Given the description of an element on the screen output the (x, y) to click on. 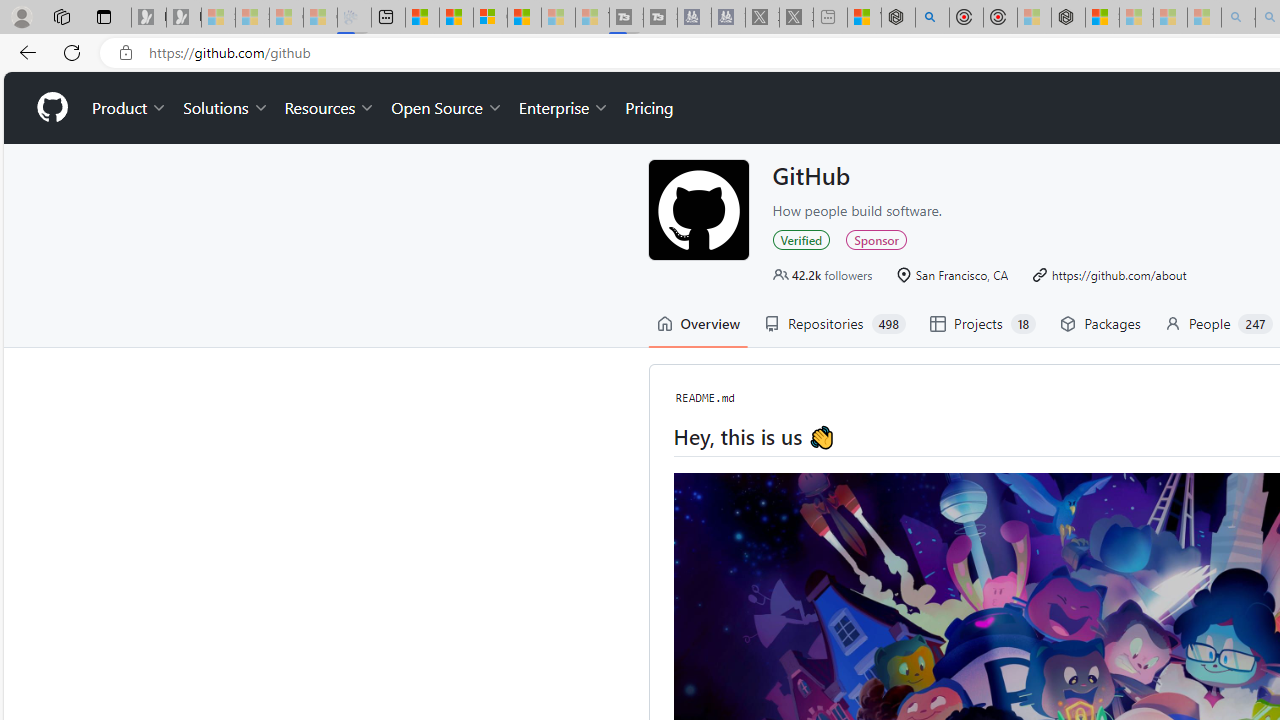
Nordace - Nordace Siena Is Not An Ordinary Backpack (1068, 17)
Solutions (225, 107)
Solutions (225, 107)
Packages (1100, 323)
Overview (697, 323)
42.2k followers (821, 274)
Resources (330, 107)
https://github.com/about (1108, 274)
Verified (800, 239)
